Given the description of an element on the screen output the (x, y) to click on. 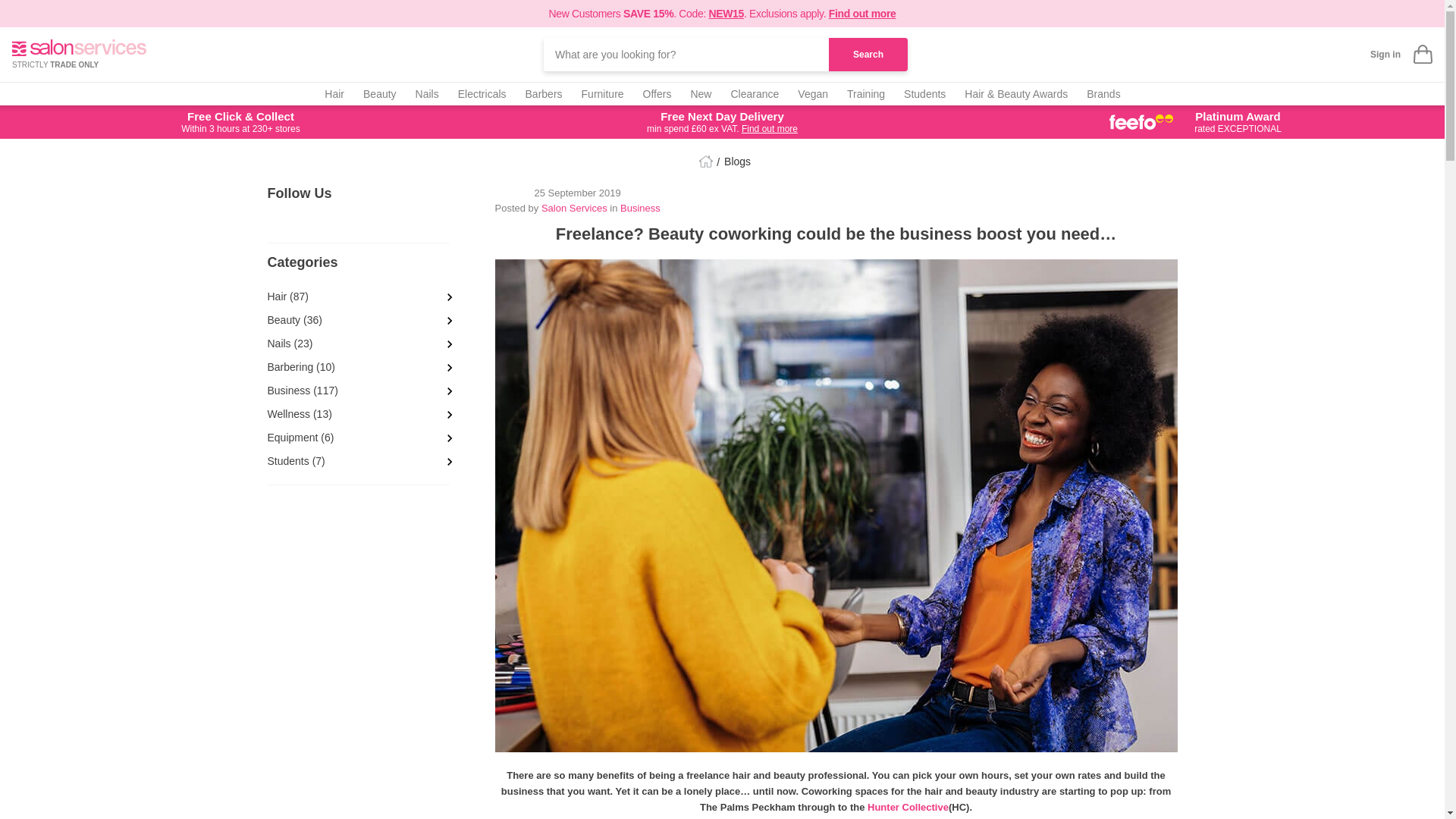
Sally Salon Services (79, 47)
Brands (1102, 93)
Students (924, 93)
Clearance (754, 93)
New (700, 93)
Offers (657, 93)
Furniture (602, 93)
STRICTLY TRADE ONLY (79, 53)
Beauty (379, 93)
Barbers (543, 93)
